Given the description of an element on the screen output the (x, y) to click on. 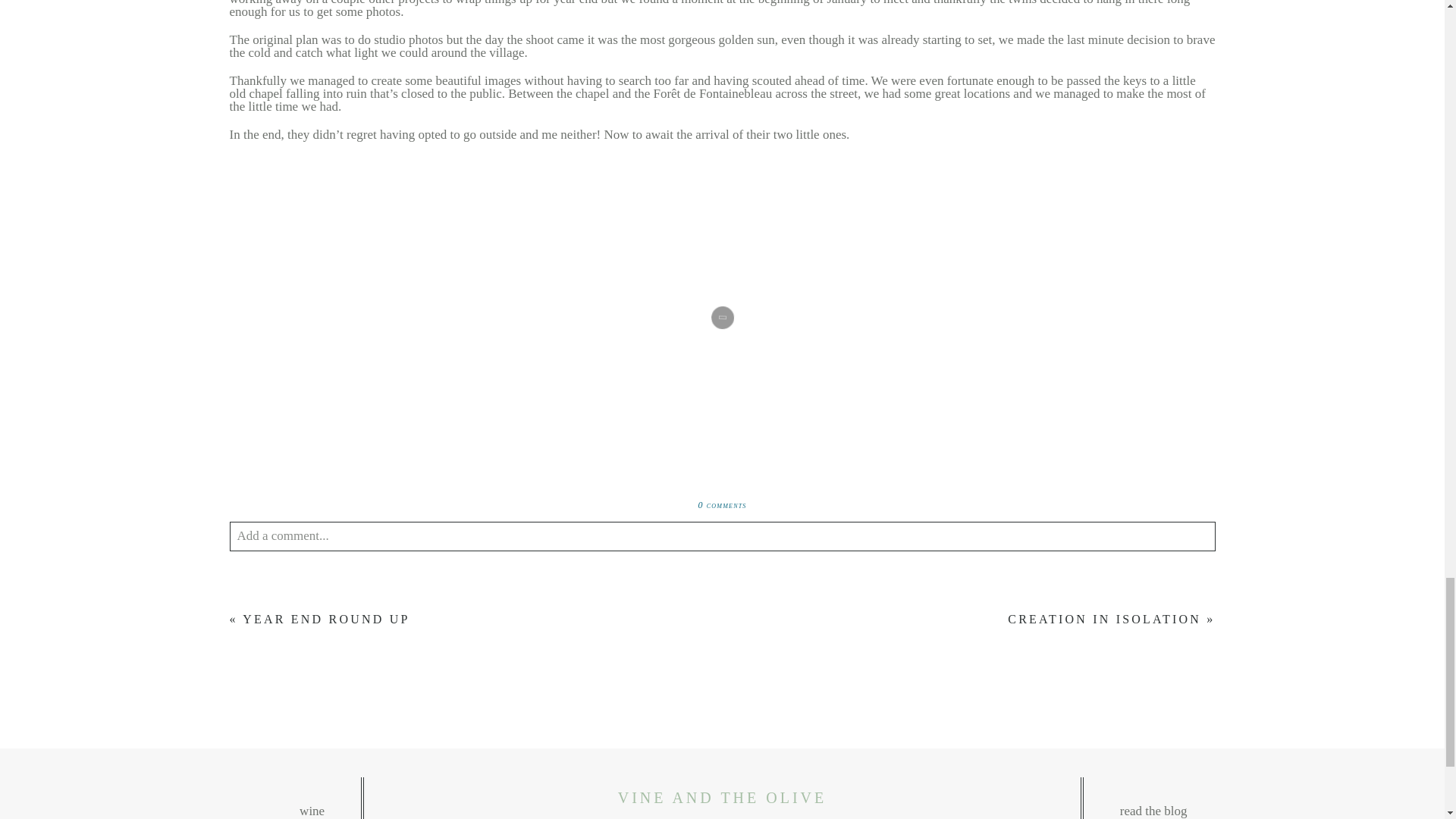
YEAR END ROUND UP (326, 618)
read the blog (1263, 803)
CREATION IN ISOLATION (1104, 618)
VINE AND THE OLIVE (722, 797)
wine (180, 803)
